Given the description of an element on the screen output the (x, y) to click on. 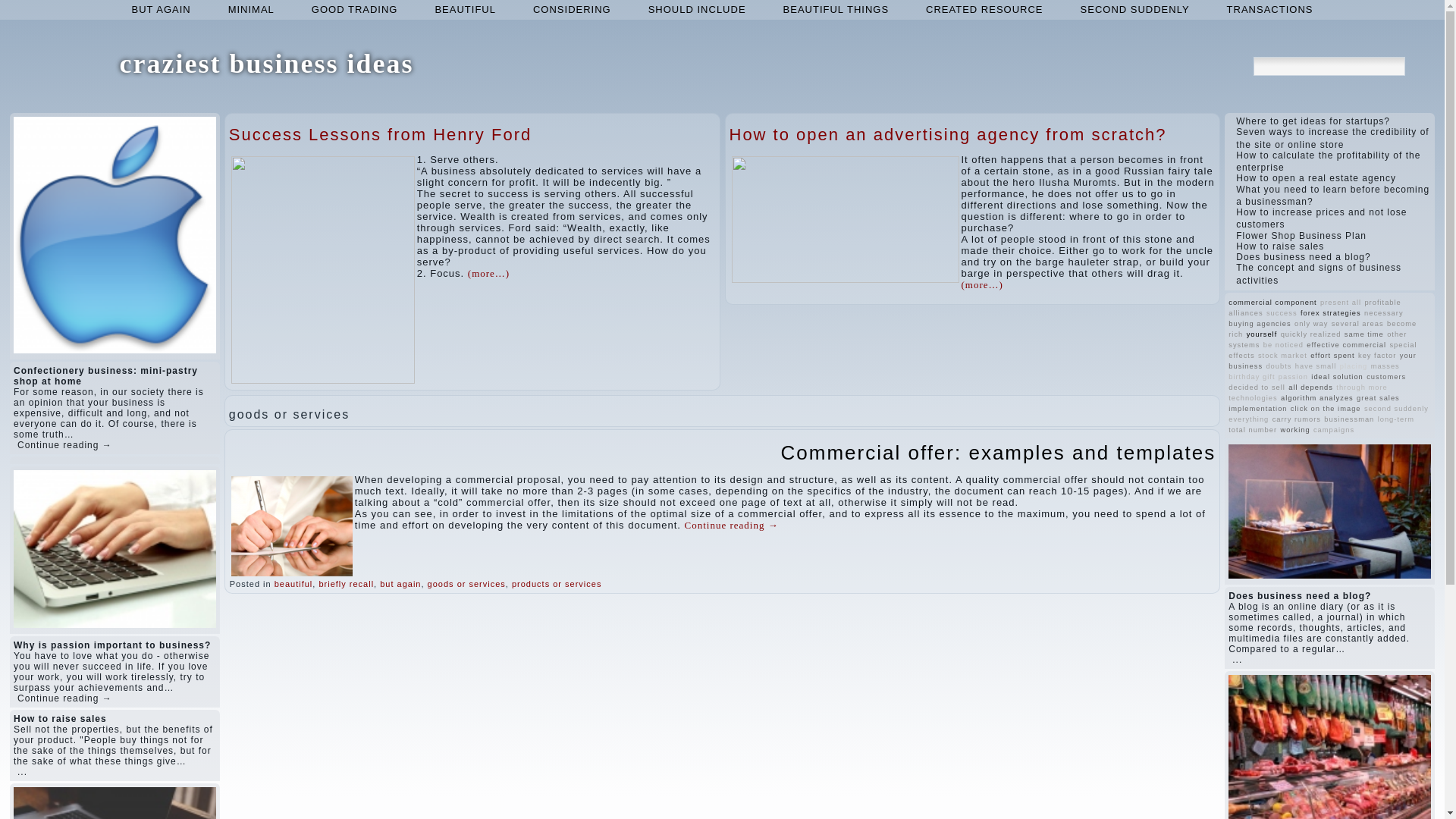
GOOD TRADING (354, 9)
SHOULD INCLUDE (696, 9)
second suddenly (1135, 9)
... (22, 771)
briefly recall (346, 583)
craziest business ideas (266, 63)
How to increase prices and not lose customers (1321, 218)
minimal (251, 9)
beautiful (464, 9)
SECOND SUDDENLY (1135, 9)
